Given the description of an element on the screen output the (x, y) to click on. 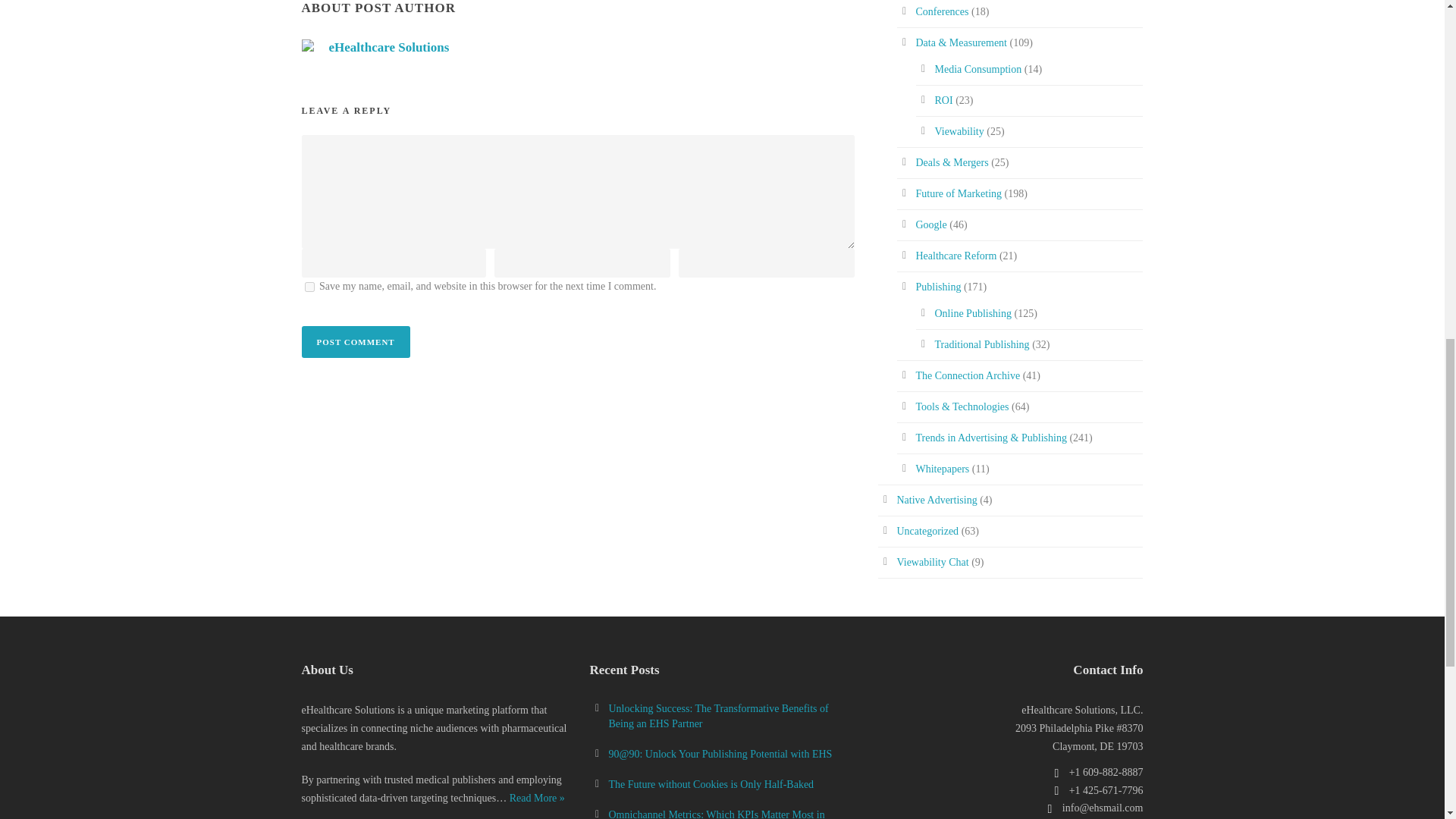
yes (309, 286)
Posts by eHealthcare Solutions (389, 47)
Post Comment (355, 341)
